Given the description of an element on the screen output the (x, y) to click on. 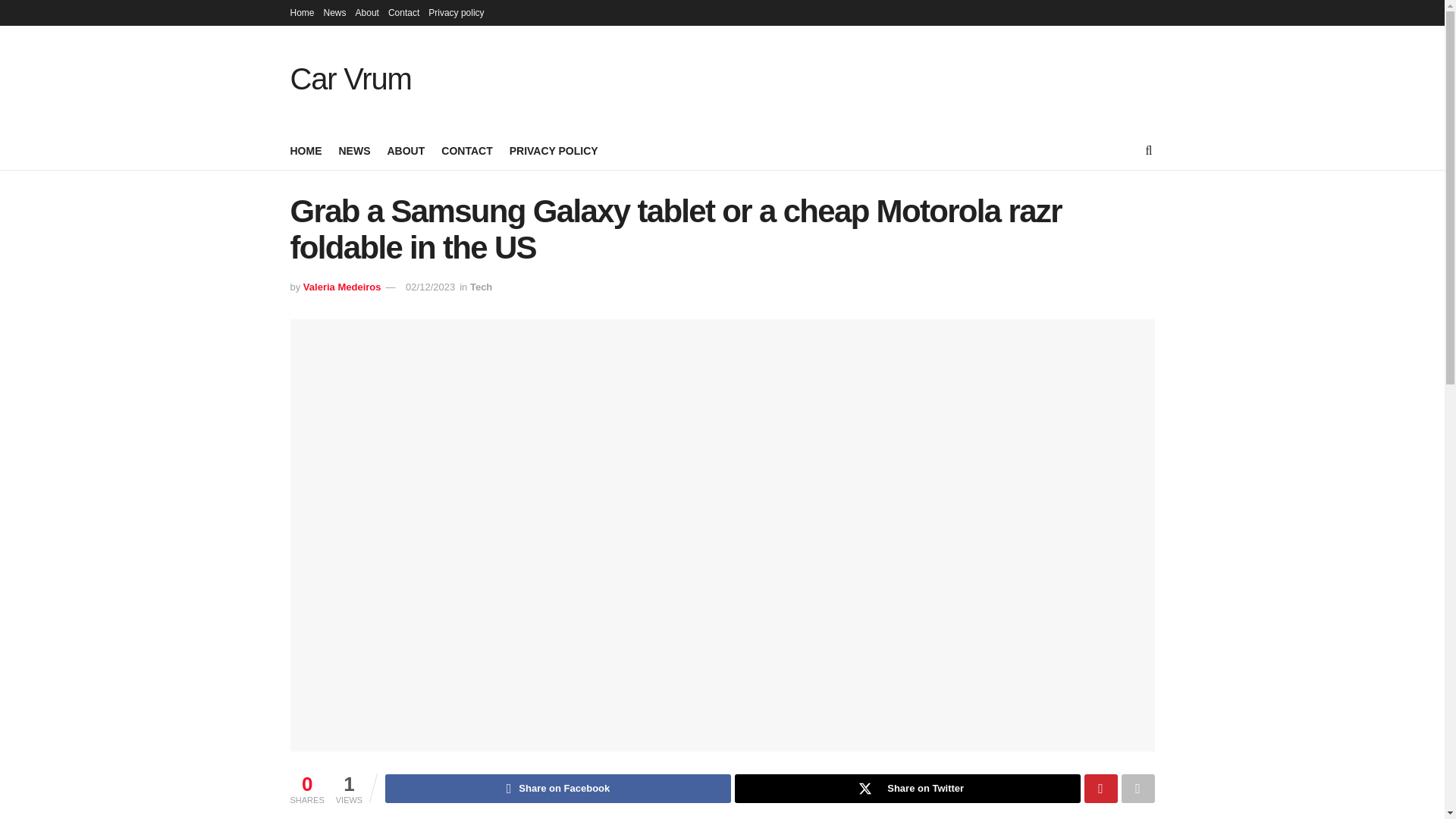
Contact (403, 12)
PRIVACY POLICY (553, 150)
Share on Facebook (557, 788)
Privacy policy (455, 12)
About (366, 12)
NEWS (353, 150)
Car Vrum (349, 78)
Share on Twitter (907, 788)
CONTACT (466, 150)
HOME (305, 150)
